Given the description of an element on the screen output the (x, y) to click on. 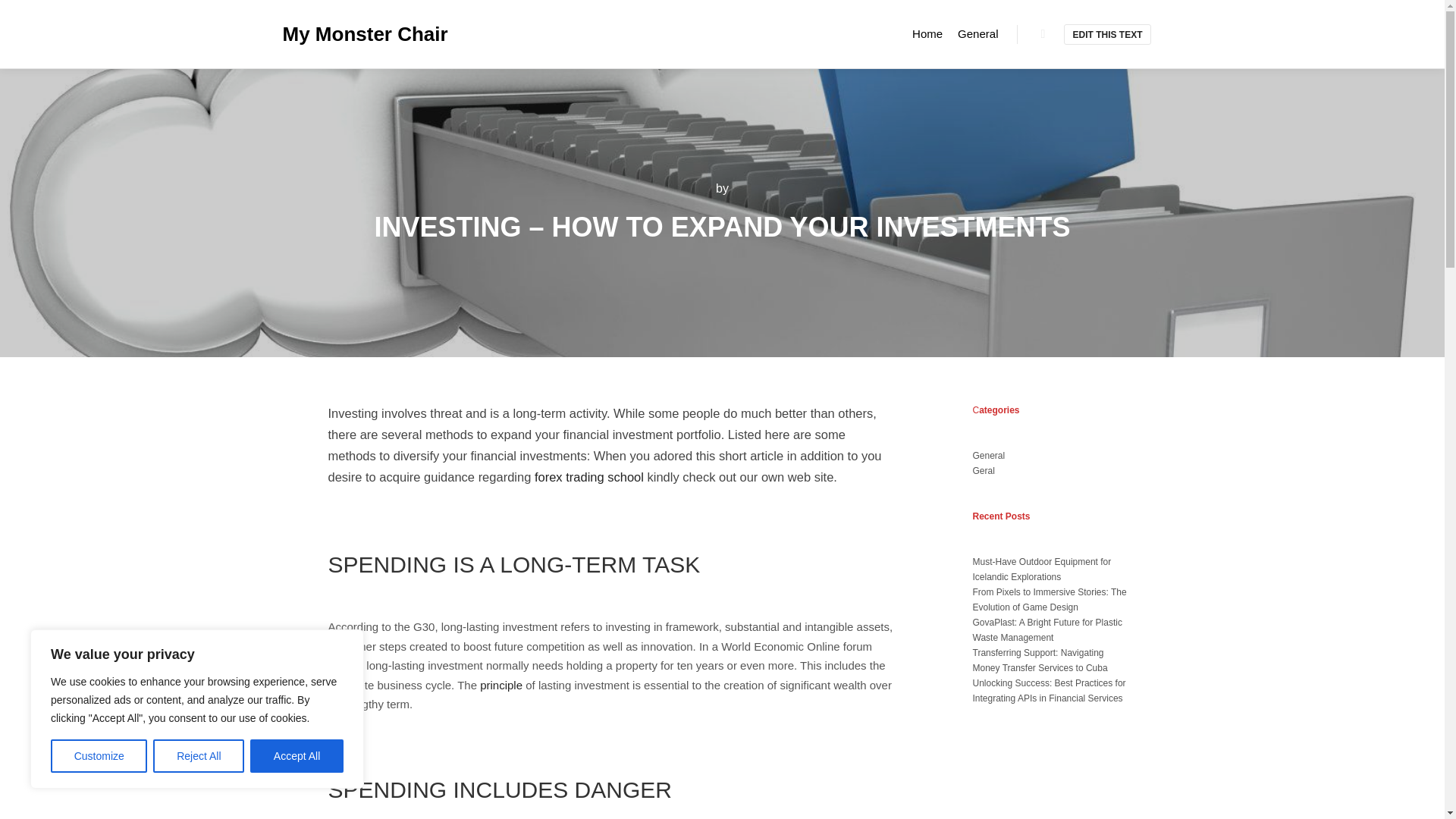
Accept All (296, 756)
Must-Have Outdoor Equipment for Icelandic Explorations (1041, 569)
General (988, 455)
principle (501, 684)
Search (1043, 34)
GovaPlast: A Bright Future for Plastic Waste Management (1046, 629)
forex trading school (588, 477)
Customize (98, 756)
Reject All (198, 756)
